Given the description of an element on the screen output the (x, y) to click on. 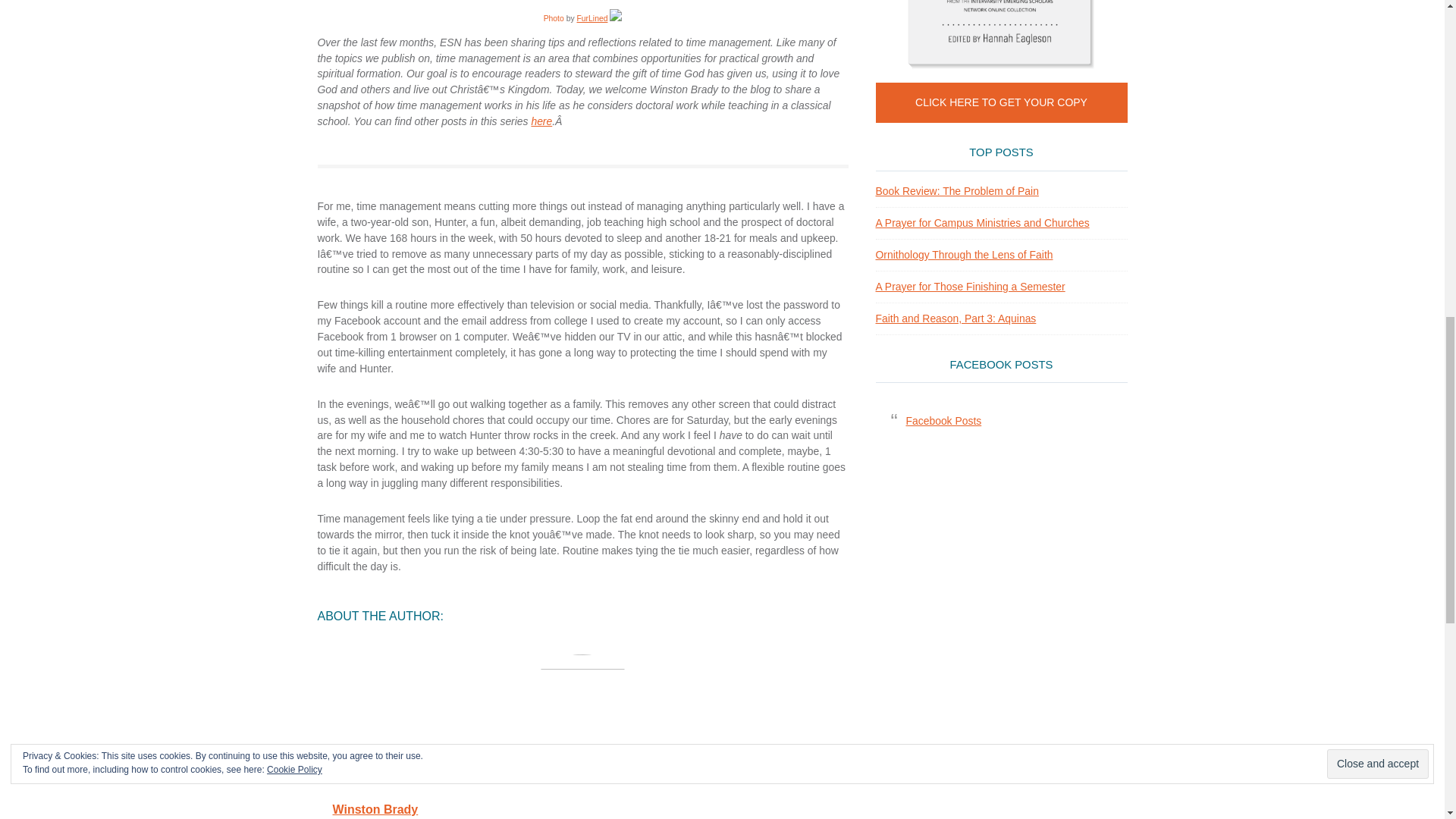
Photo (553, 18)
A Prayer for Campus Ministries and Churches (982, 223)
CLICK HERE TO GET YOUR COPY (1000, 102)
FurLined (591, 18)
Image inserted by the ImageInject WordPress plugin (553, 18)
Attribution-NonCommercial-ShareAlike License (615, 18)
here (541, 121)
Book Review: The Problem of Pain (956, 191)
Winston Brady (374, 809)
